Given the description of an element on the screen output the (x, y) to click on. 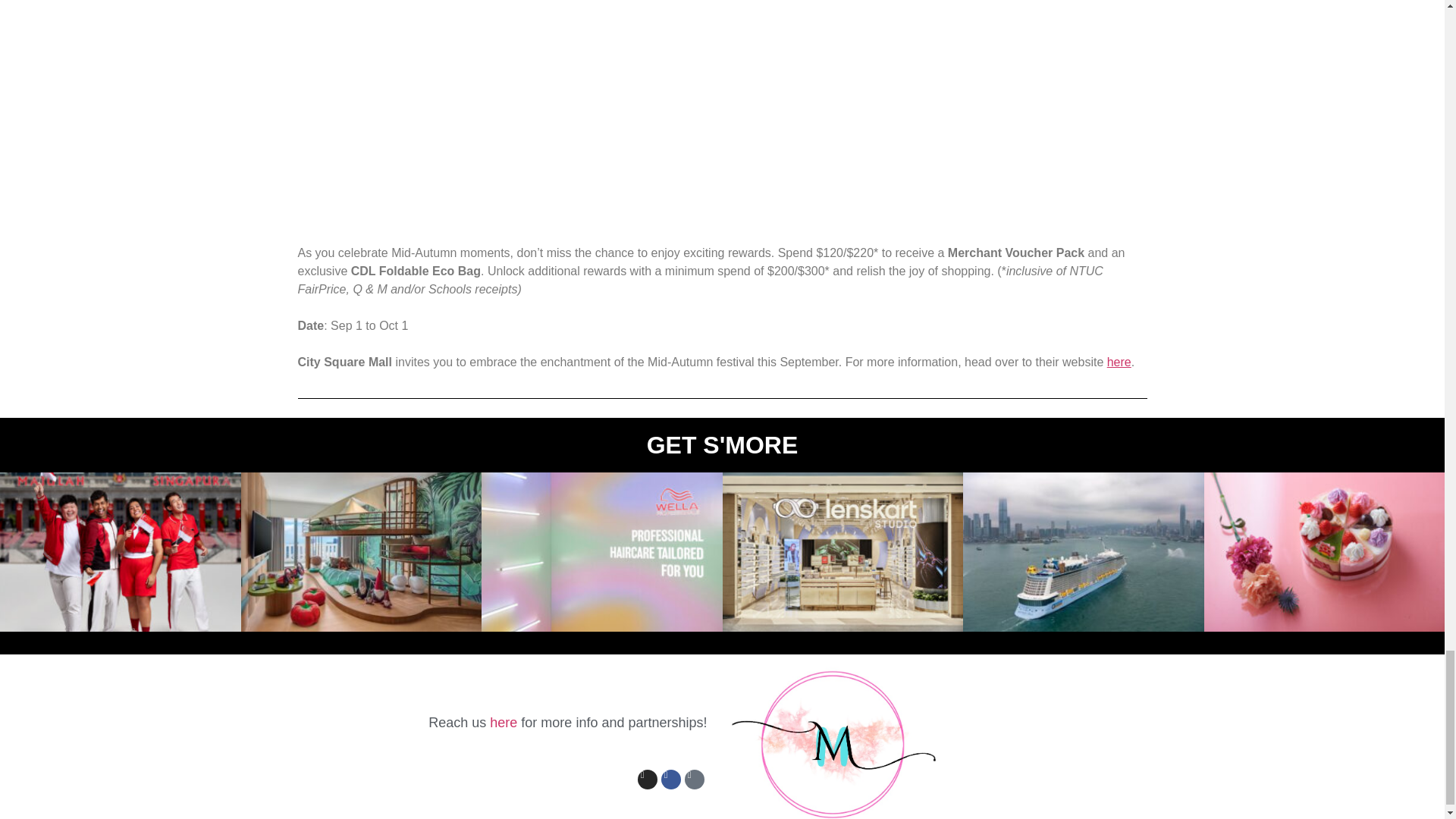
here (1118, 361)
here (505, 722)
